Given the description of an element on the screen output the (x, y) to click on. 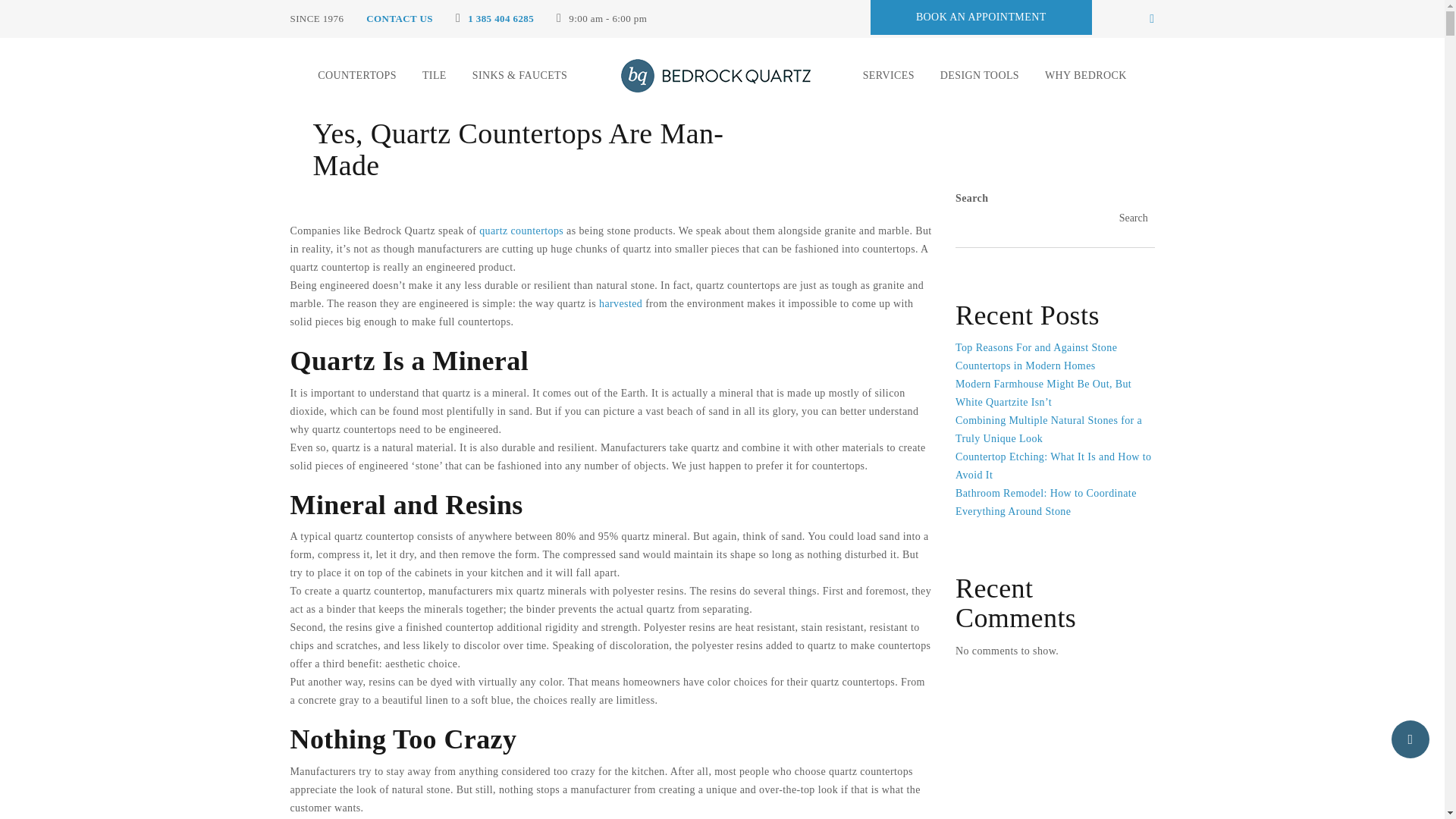
CONTACT US (399, 18)
logo (715, 75)
quartz countertops (521, 230)
BOOK AN APPOINTMENT (981, 17)
WHY BEDROCK (1085, 75)
SERVICES (888, 75)
1 385 404 6285 (500, 18)
COUNTERTOPS (356, 75)
DESIGN TOOLS (979, 75)
REQUEST A QUOTE (981, 17)
